Given the description of an element on the screen output the (x, y) to click on. 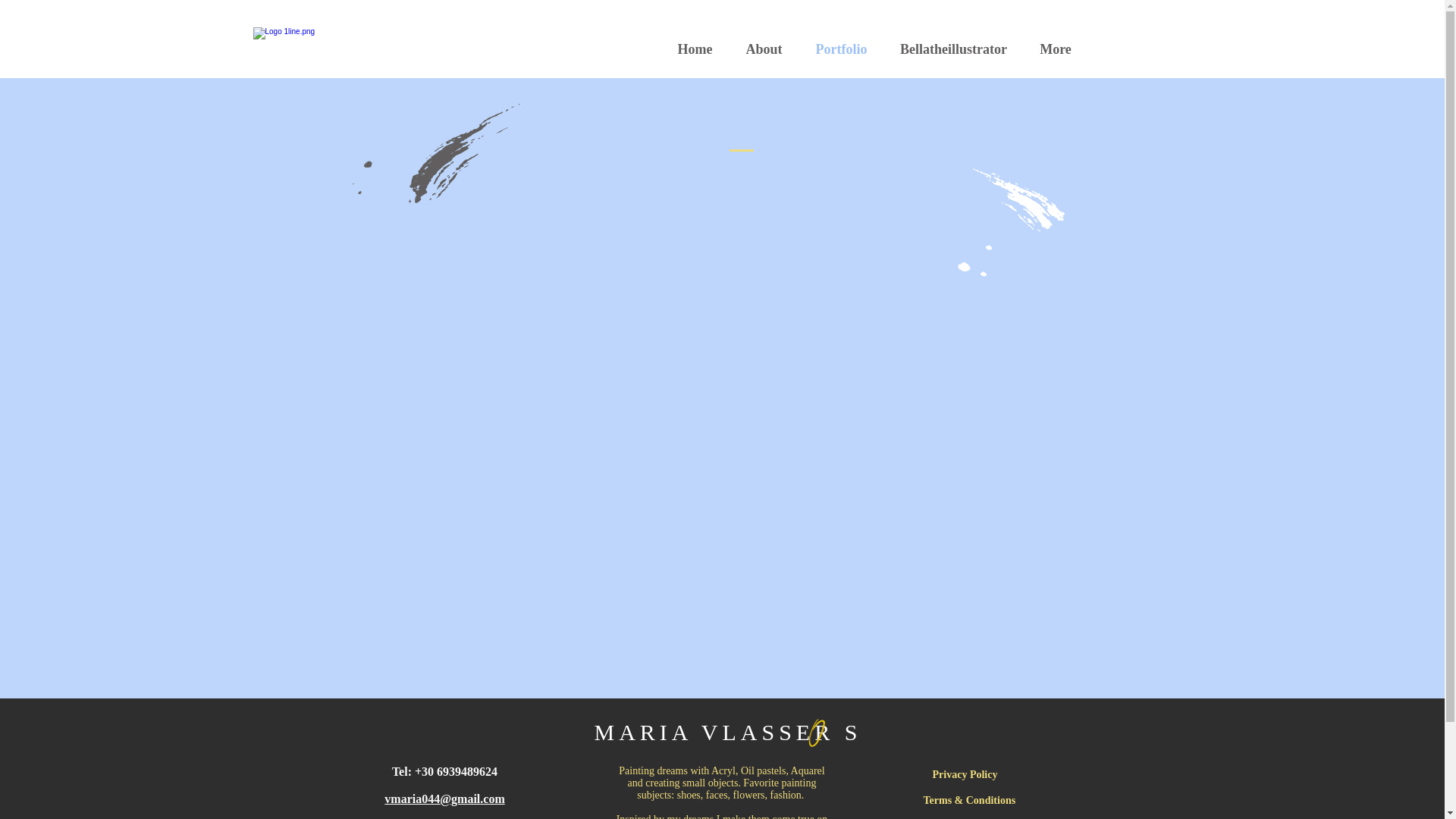
Privacy Policy (965, 773)
MARIA VLASSER S (727, 731)
About (764, 49)
Home (695, 49)
Bellatheillustrator (953, 49)
Portfolio (841, 49)
